Given the description of an element on the screen output the (x, y) to click on. 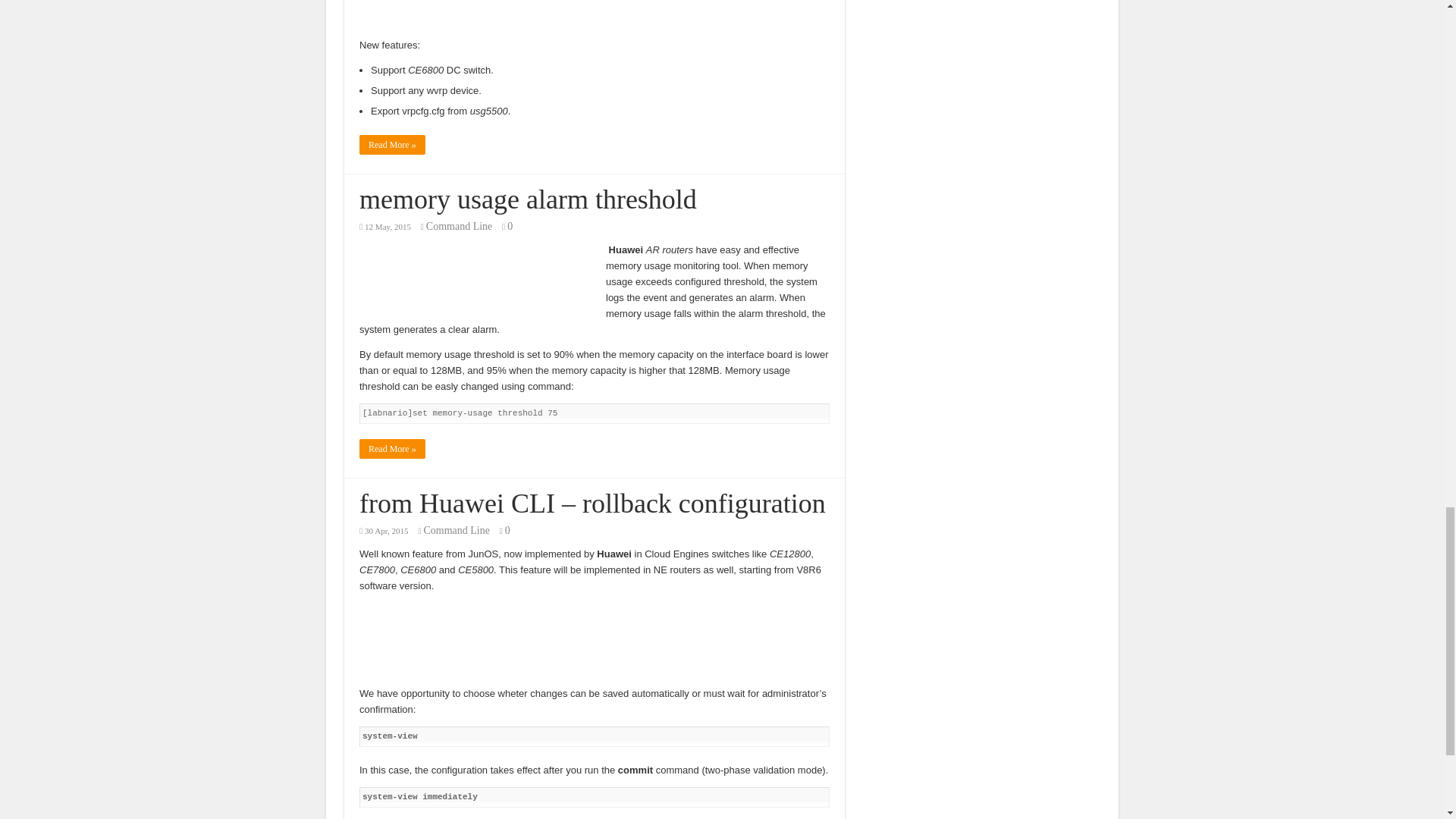
Command Line (456, 530)
memory usage alarm threshold (528, 199)
Command Line (459, 225)
